Given the description of an element on the screen output the (x, y) to click on. 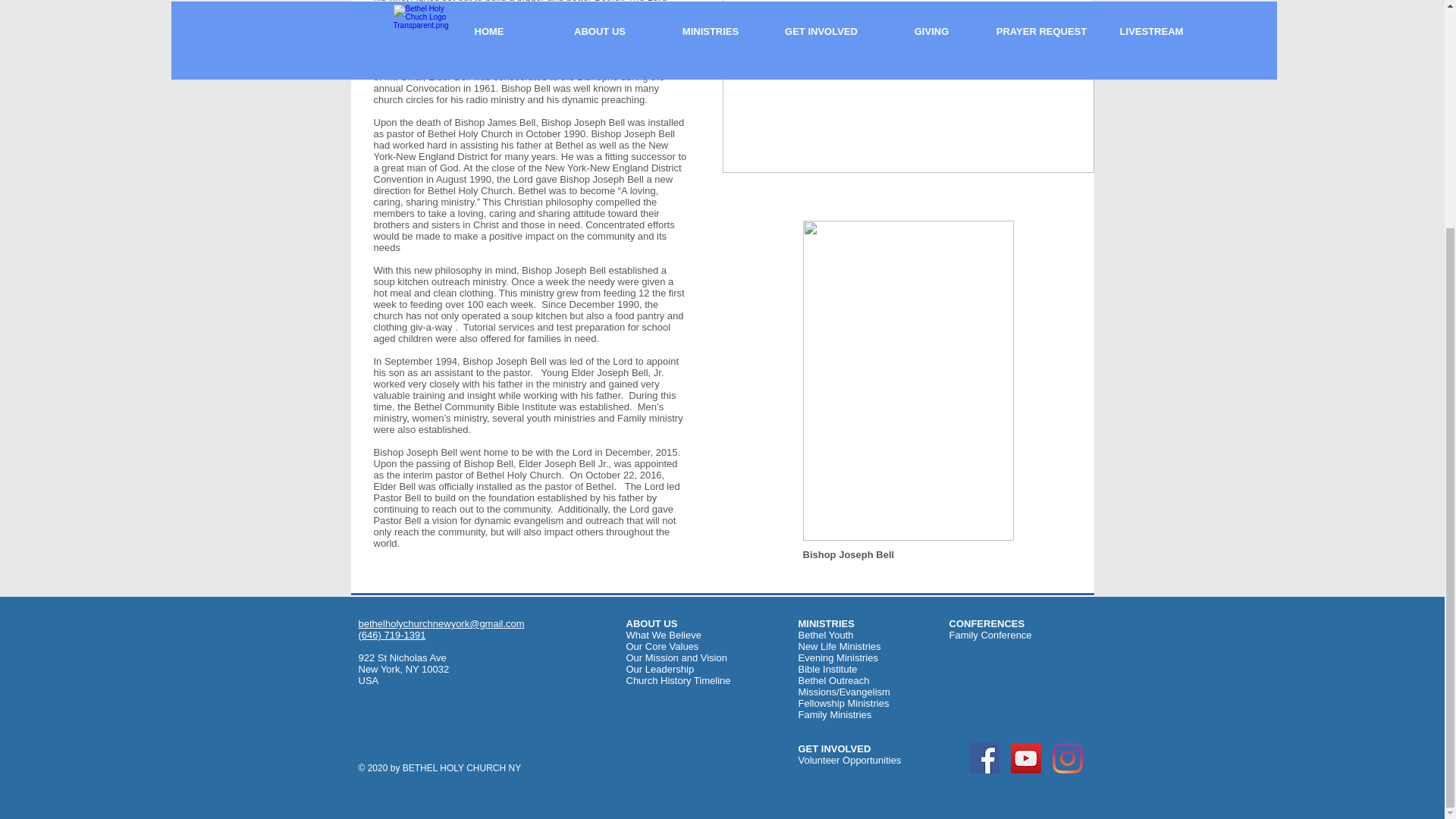
Evening Ministries (837, 657)
Church History Timeline (678, 680)
Our Core Values (662, 645)
Fellowship Ministries (842, 703)
Family Ministries (833, 714)
Bethel Youth (825, 634)
What We Believe (663, 634)
Our Leadership (660, 668)
Family Conference (990, 634)
BETHEL.jpg (907, 86)
Volunteer Opportunities (849, 759)
Our Mission and Vision (676, 657)
Bethel Outreach (833, 680)
Bible Institute (827, 668)
New Life Ministries (838, 645)
